Given the description of an element on the screen output the (x, y) to click on. 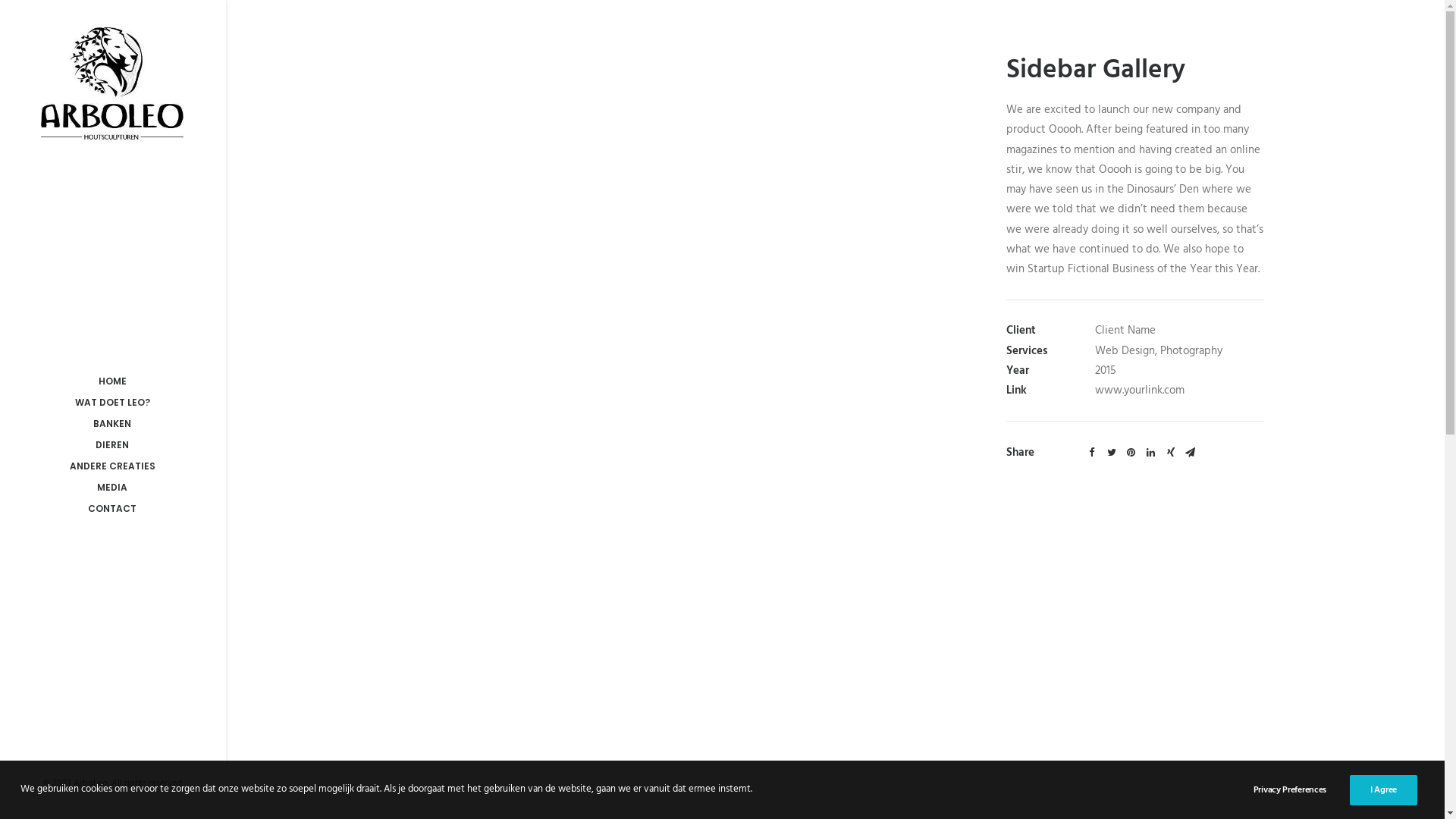
www.yourlink.com Element type: text (1139, 390)
Privacy Preferences Element type: text (1299, 789)
I Agree Element type: text (1383, 790)
